Given the description of an element on the screen output the (x, y) to click on. 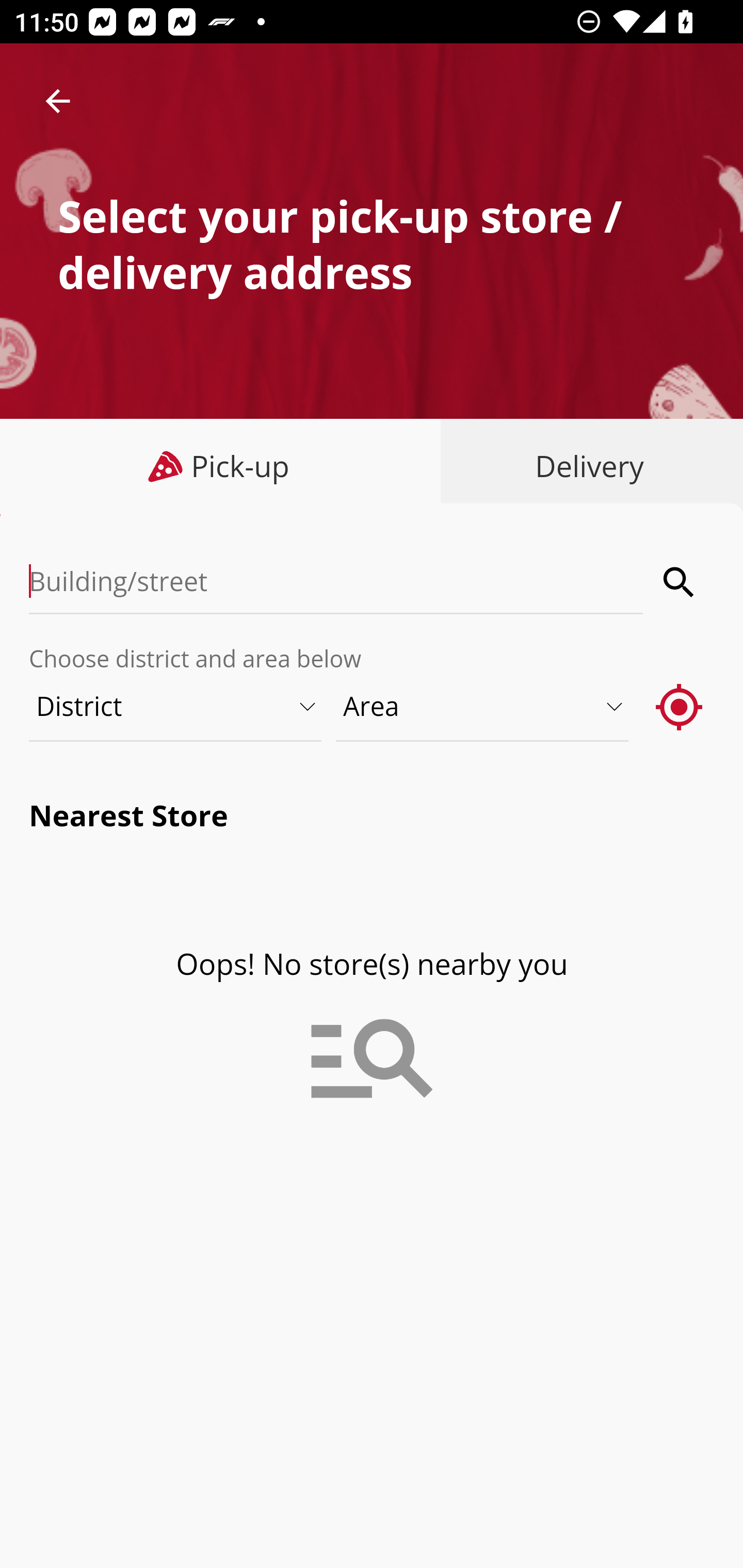
arrow_back (58, 100)
Pick-up (221, 466)
Delivery (585, 466)
search (679, 582)
gps_fixed (679, 706)
District (175, 706)
Area (482, 706)
